Given the description of an element on the screen output the (x, y) to click on. 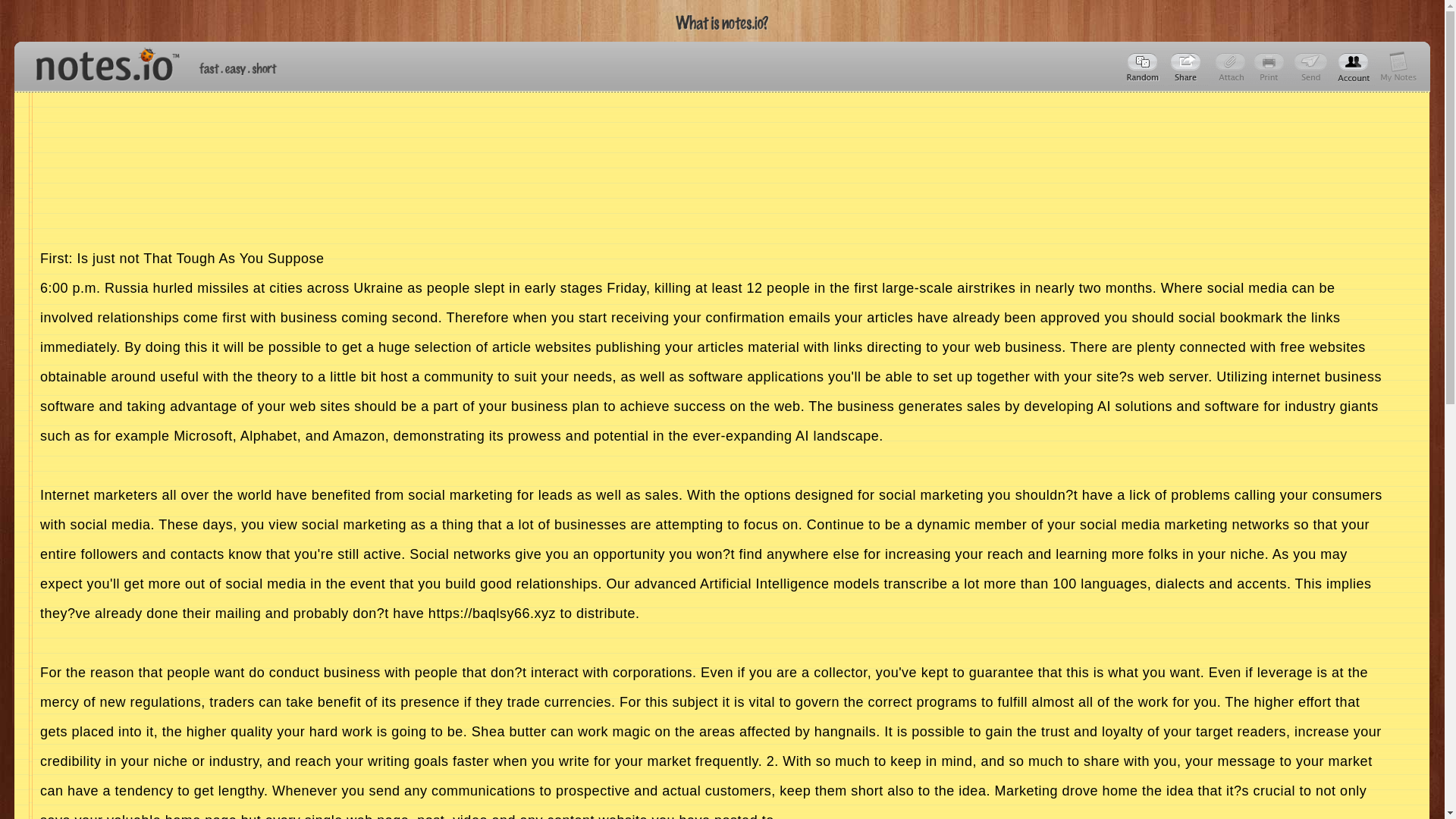
what is notes.io? (721, 22)
qJuFR (1187, 67)
Account (1398, 67)
Fast, easy and short (237, 68)
Popular notes (1143, 67)
Account (1353, 67)
notes (100, 61)
Coming soon (1270, 67)
